Given the description of an element on the screen output the (x, y) to click on. 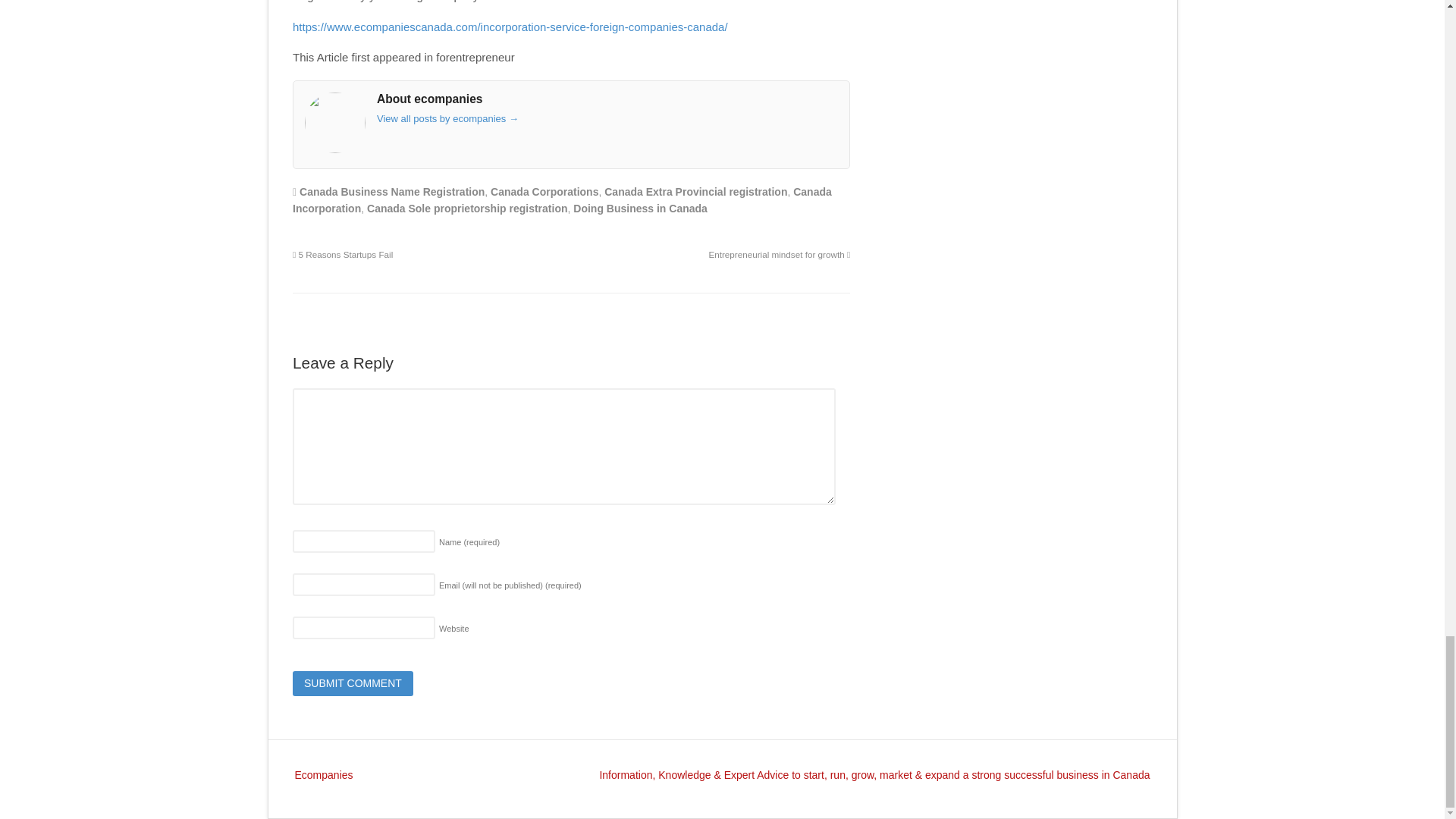
Submit Comment (352, 683)
